Given the description of an element on the screen output the (x, y) to click on. 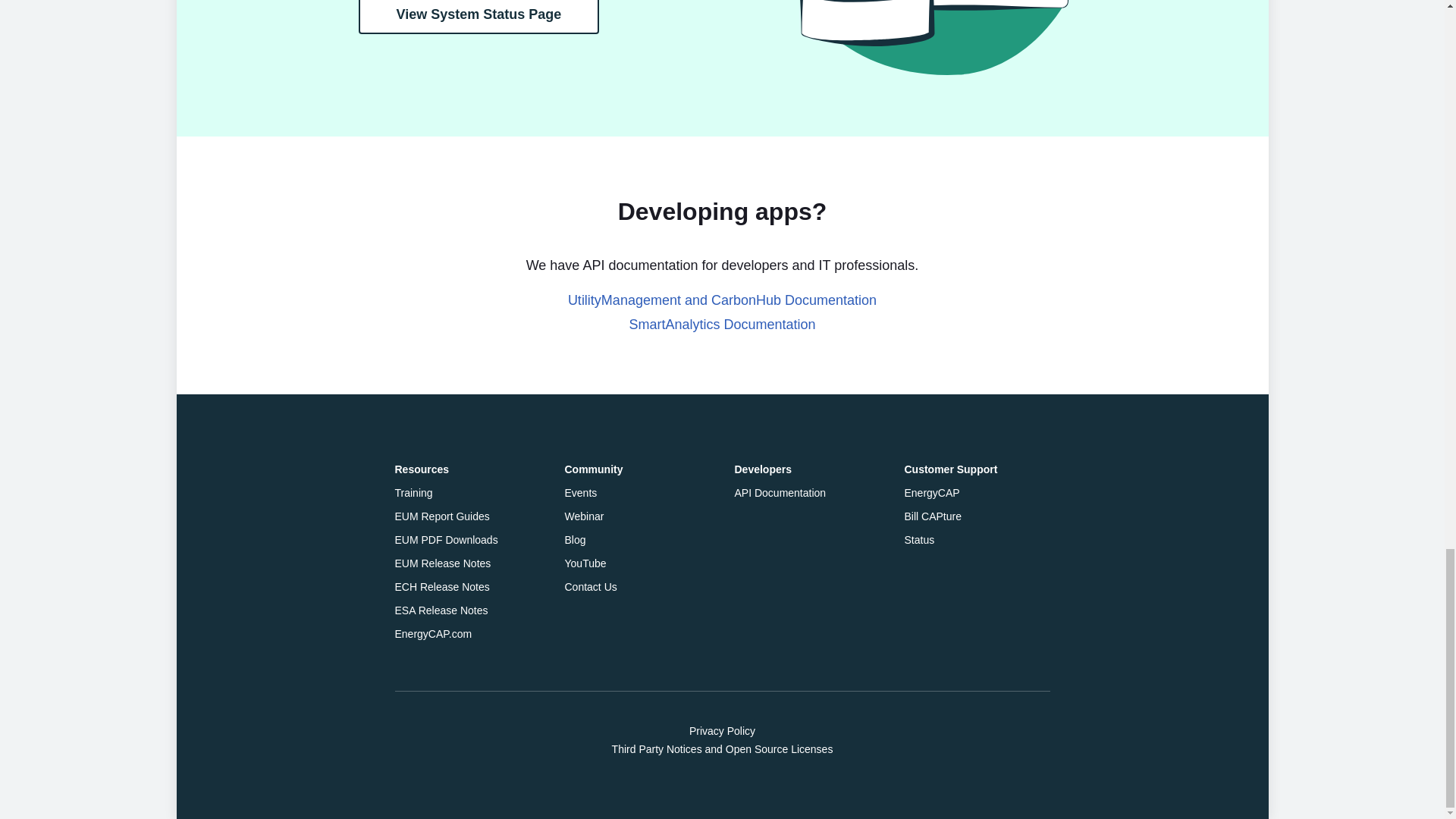
Training (413, 492)
ECH Release Notes (441, 586)
ESA Release Notes (440, 610)
Events (580, 492)
Contact Us (589, 586)
EnergyCAP.com (432, 633)
Third Party Notices and Open Source Licenses (721, 749)
API Documentation (779, 492)
EUM PDF Downloads (445, 539)
Privacy Policy (721, 730)
SmartAnalytics Documentation (721, 324)
UtilityManagement and CarbonHub Documentation (721, 299)
EnergyCAP (931, 492)
Blog (574, 539)
Status (919, 539)
